Given the description of an element on the screen output the (x, y) to click on. 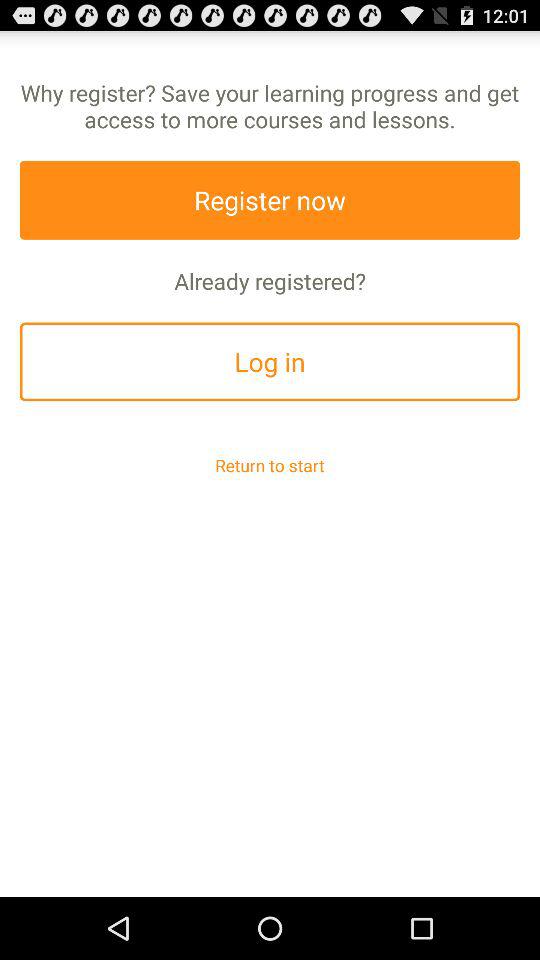
scroll until the log in icon (269, 361)
